Given the description of an element on the screen output the (x, y) to click on. 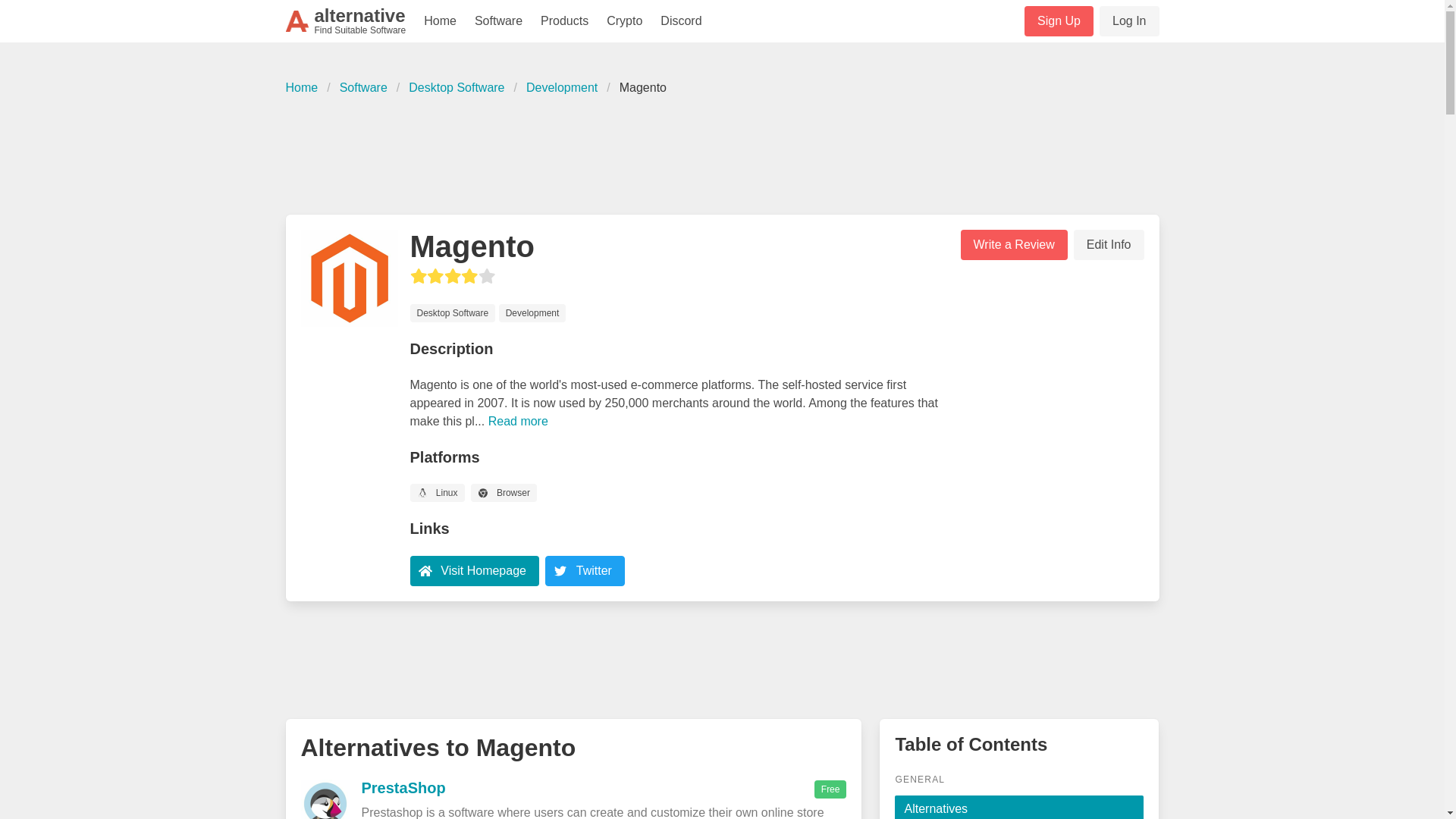
PrestaShop (403, 787)
Sign Up (1059, 20)
Edit Info (1109, 245)
Home (305, 87)
Visit Homepage (483, 570)
Software (363, 87)
Visit Homepage (473, 570)
Twitter (593, 570)
Crypto (623, 21)
Software (498, 21)
